Given the description of an element on the screen output the (x, y) to click on. 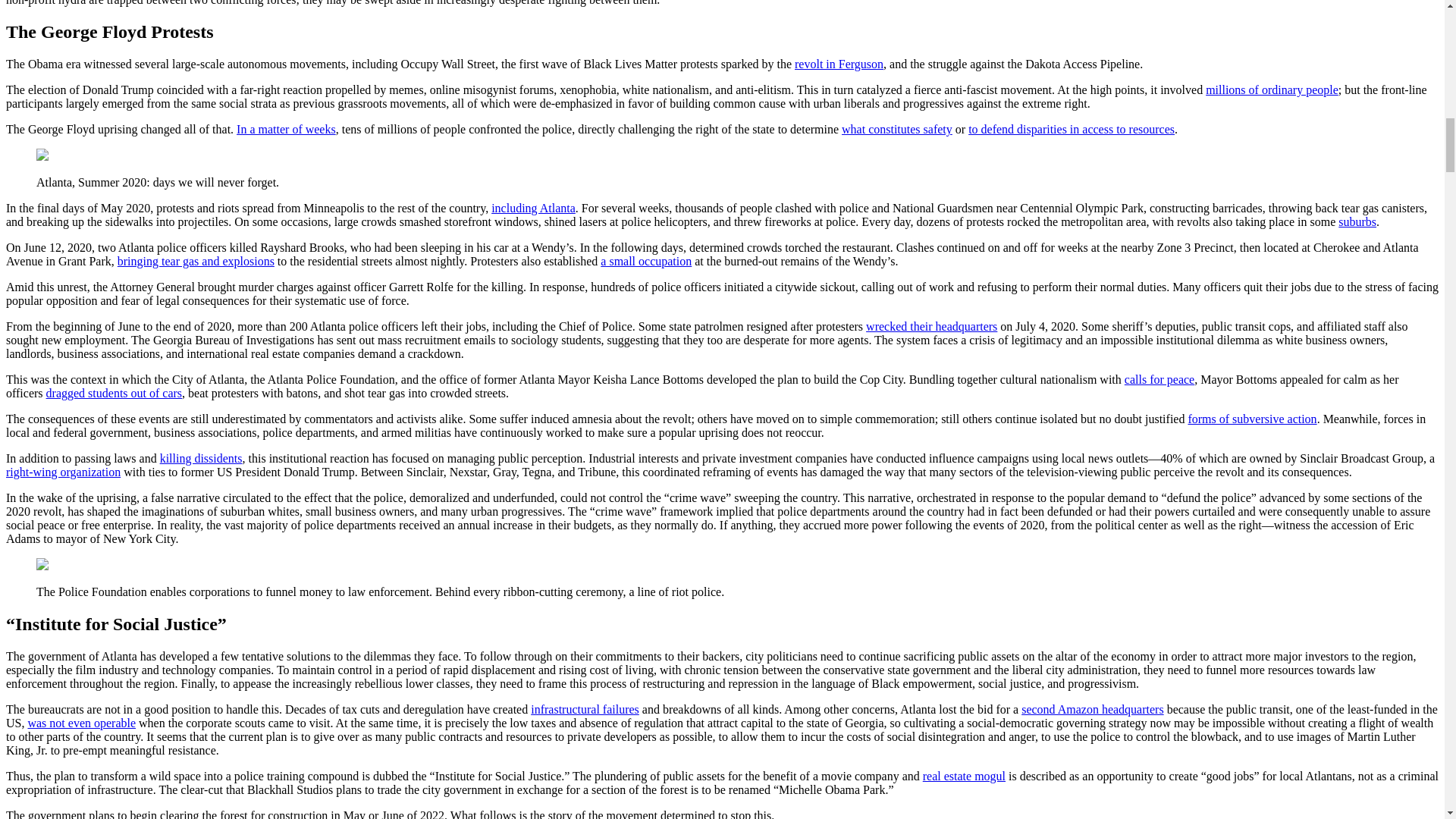
suburbs (1356, 221)
what constitutes safety (896, 128)
bringing tear gas and explosions (196, 260)
to defend disparities in access to resources (1071, 128)
In a matter of weeks (285, 128)
millions of ordinary people (1271, 89)
revolt in Ferguson (838, 63)
including Atlanta (533, 207)
